Given the description of an element on the screen output the (x, y) to click on. 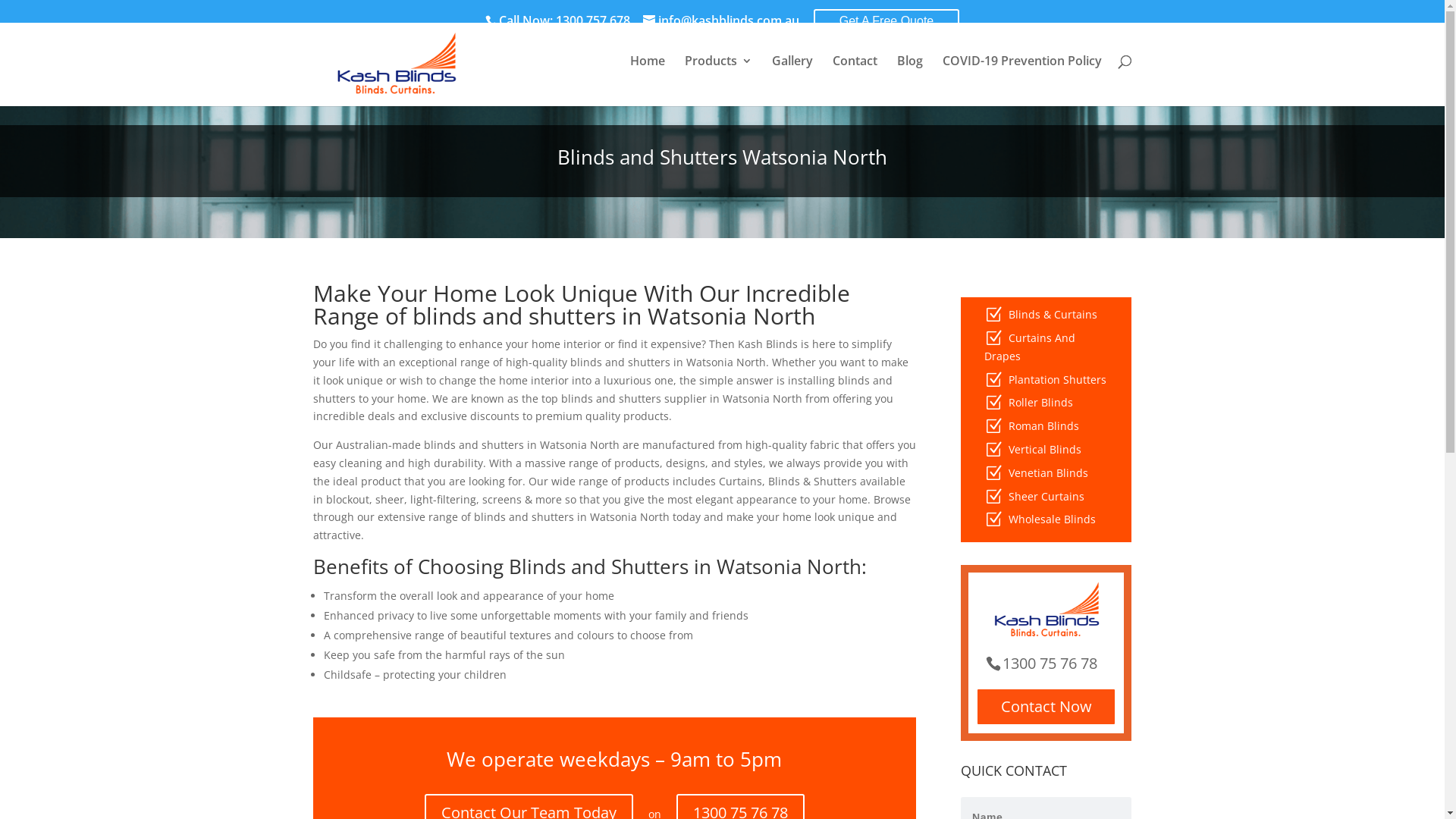
Products Element type: text (717, 73)
Blog Element type: text (909, 73)
Venetian Blinds Element type: text (1048, 472)
Plantation Shutters Element type: text (1057, 379)
1300 75 76 78 Element type: text (1046, 662)
Gallery Element type: text (791, 73)
Sheer Curtains Element type: text (1046, 496)
Blinds & Curtains Element type: text (1052, 314)
Contact Now Element type: text (1045, 706)
Contact Element type: text (854, 73)
Get A Free Quote Element type: text (886, 20)
info@kashblinds.com.au Element type: text (721, 20)
Curtains And Drapes Element type: text (1029, 346)
Wholesale Blinds Element type: text (1051, 518)
Roman Blinds Element type: text (1043, 425)
Roller Blinds Element type: text (1040, 402)
Shutters, Curtains and Blinds in Epping, Melbourne Element type: hover (394, 63)
COVID-19 Prevention Policy Element type: text (1021, 73)
Vertical Blinds Element type: text (1044, 449)
Call Now: 1300 757 678 Element type: text (562, 20)
Home Element type: text (646, 73)
